Given the description of an element on the screen output the (x, y) to click on. 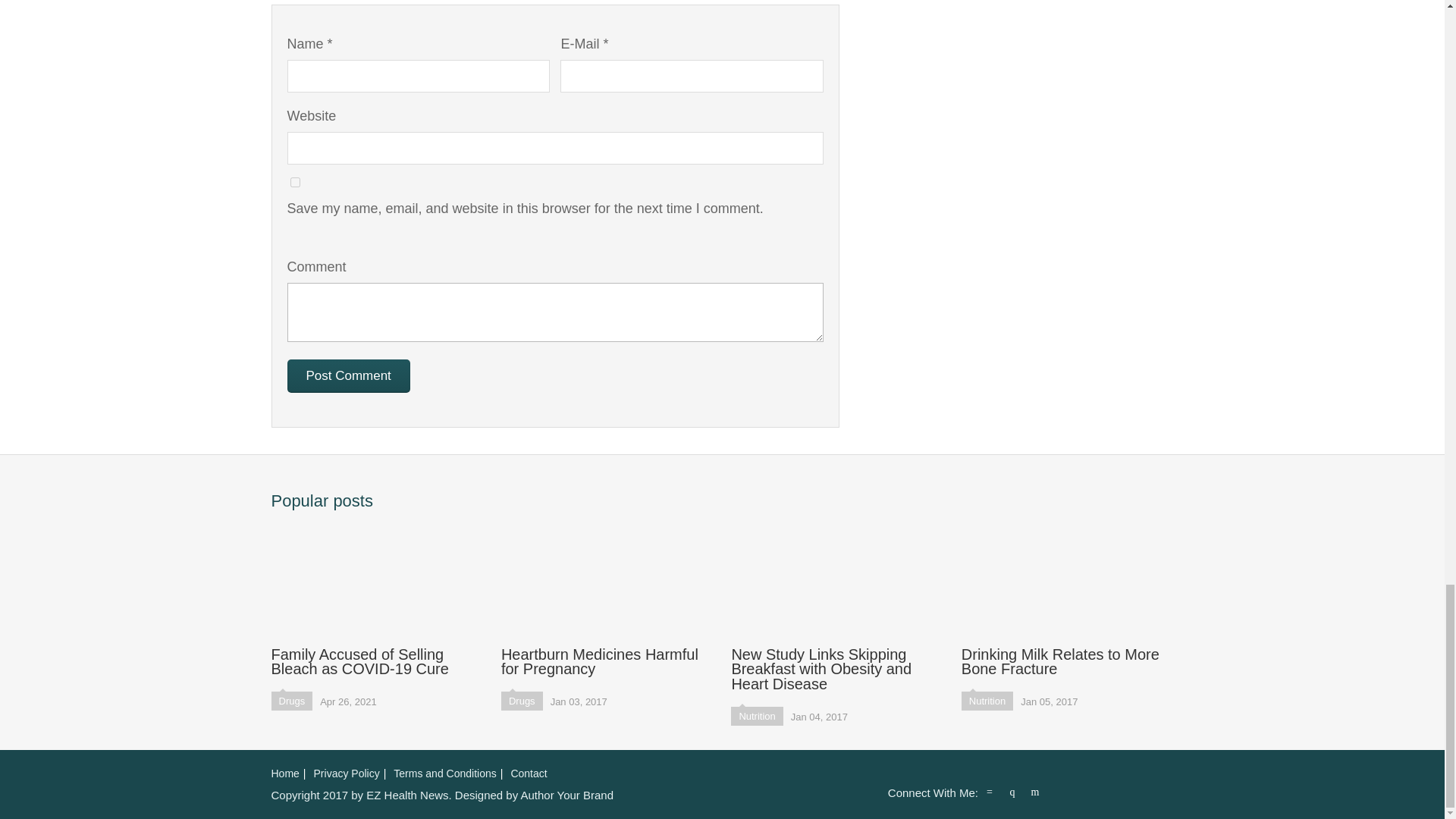
Drugs (521, 700)
Drugs (291, 700)
Post Comment (347, 376)
Post Comment (347, 376)
yes (294, 182)
Family Accused of Selling Bleach as COVID-19 Cure (376, 598)
Heartburn Medicines Harmful for Pregnancy (606, 598)
